Given the description of an element on the screen output the (x, y) to click on. 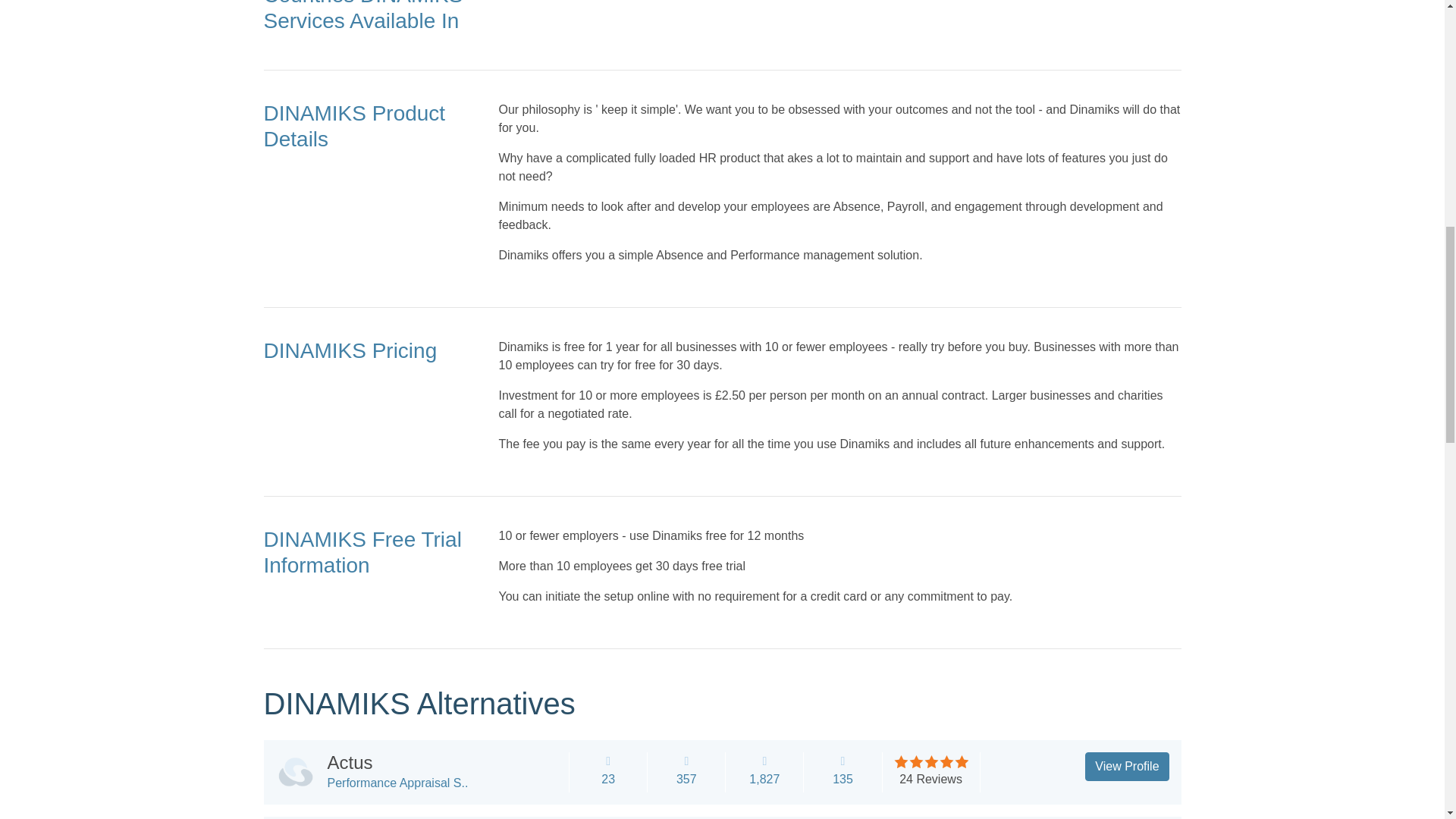
View Profile (1126, 766)
Actus (349, 762)
24 Reviews (930, 779)
